Given the description of an element on the screen output the (x, y) to click on. 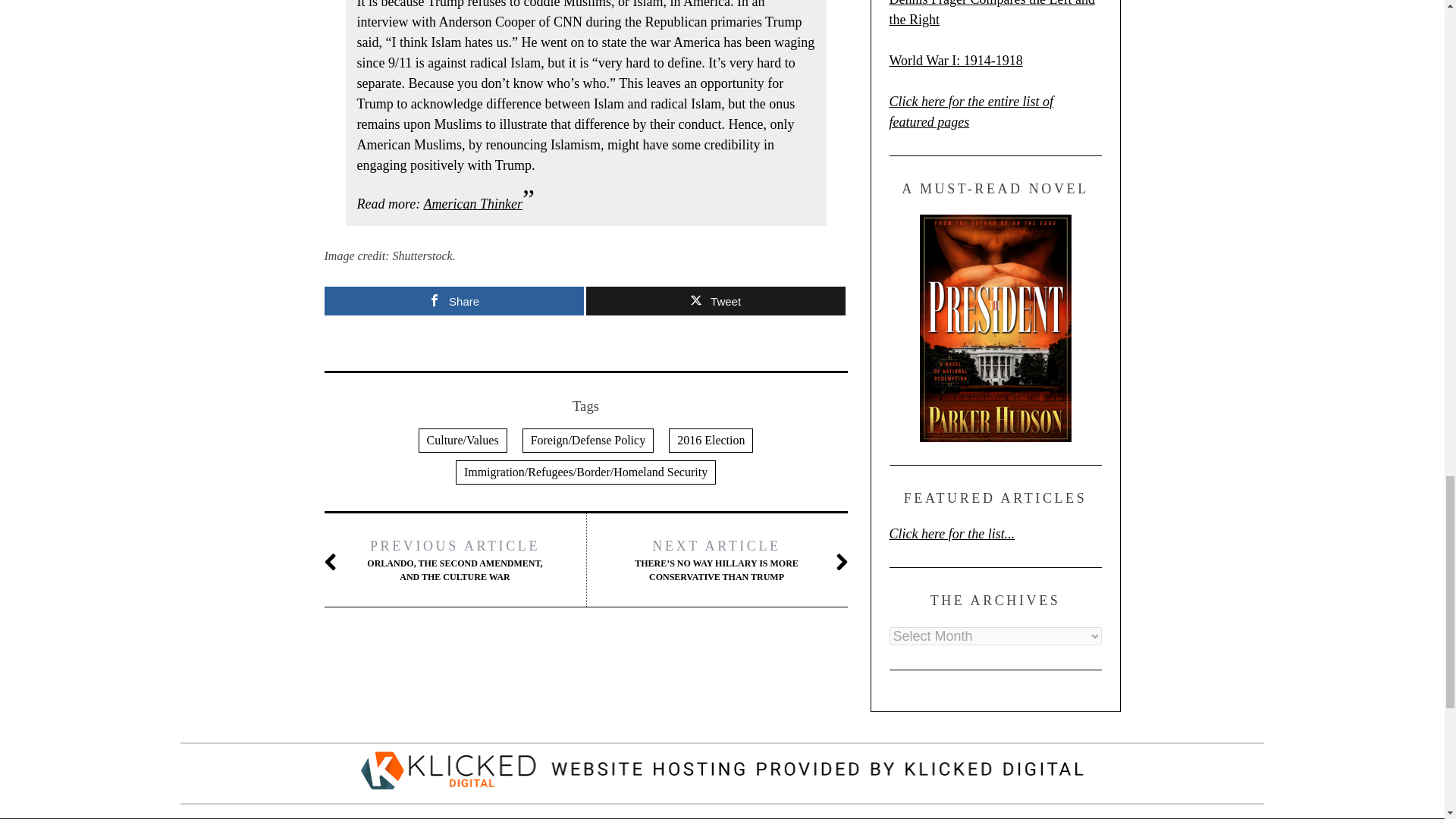
Click here for the entire list of featured pages (970, 111)
Share (453, 300)
World War I: 1914-1918 (955, 60)
A Must-Read Novel (994, 328)
2016 Election (710, 440)
American Thinker (472, 203)
Tweet (714, 300)
Dennis Prager Compares the Left and the Right (991, 13)
